Given the description of an element on the screen output the (x, y) to click on. 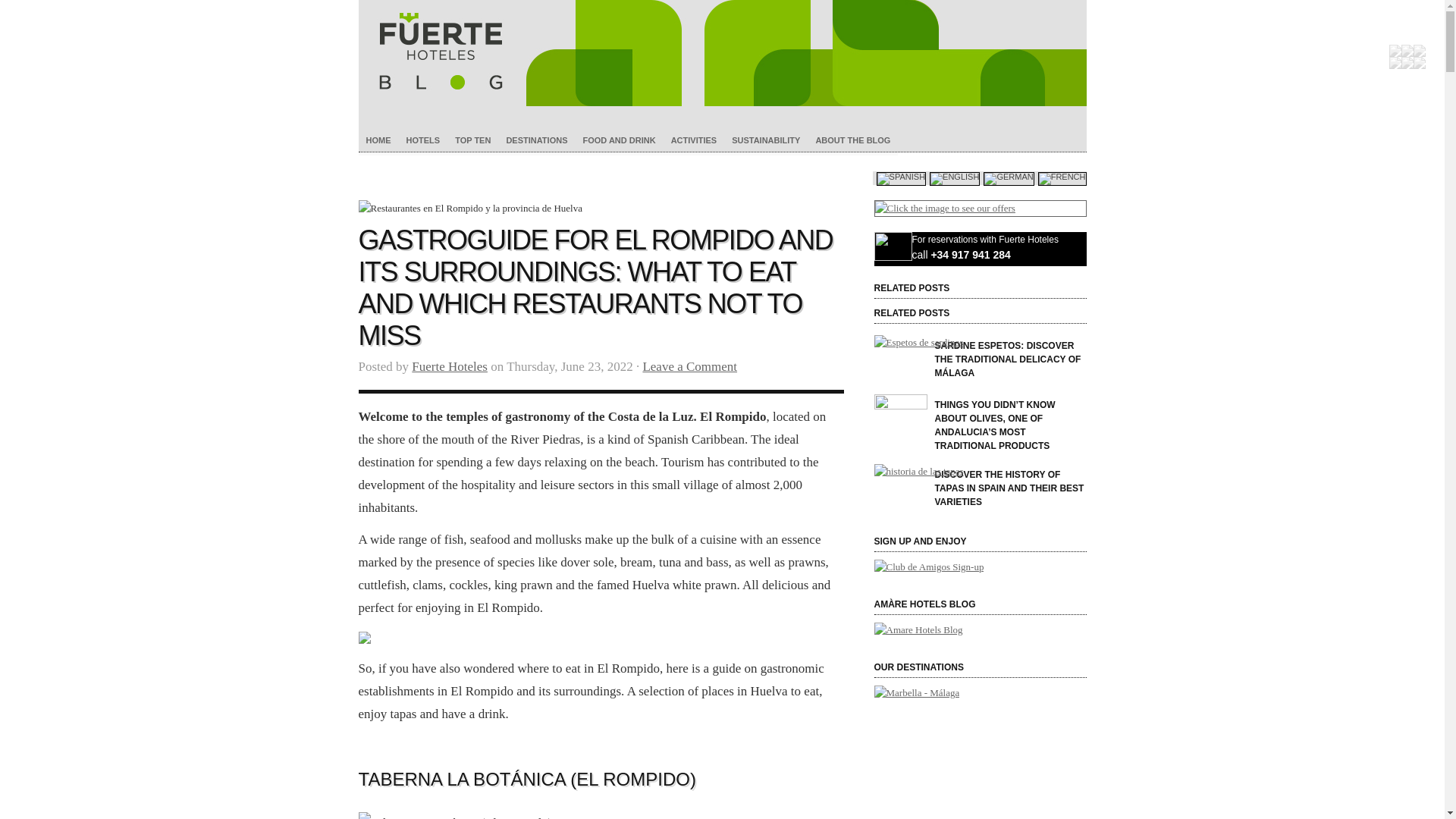
FOOD AND DRINK (618, 138)
Fuerte Hoteles (449, 366)
ABOUT THE BLOG (853, 138)
Conil de la Frontera (979, 810)
DESTINATIONS (536, 138)
Posts by Fuerte Hoteles (449, 366)
Home (722, 53)
HOME (377, 138)
Marbella (916, 692)
HOTELS (423, 138)
ACTIVITIES (694, 138)
BLOG FUERTE HOTELES (722, 53)
Fuerte Hoteles Offers (979, 208)
Leave a Comment (689, 366)
